Given the description of an element on the screen output the (x, y) to click on. 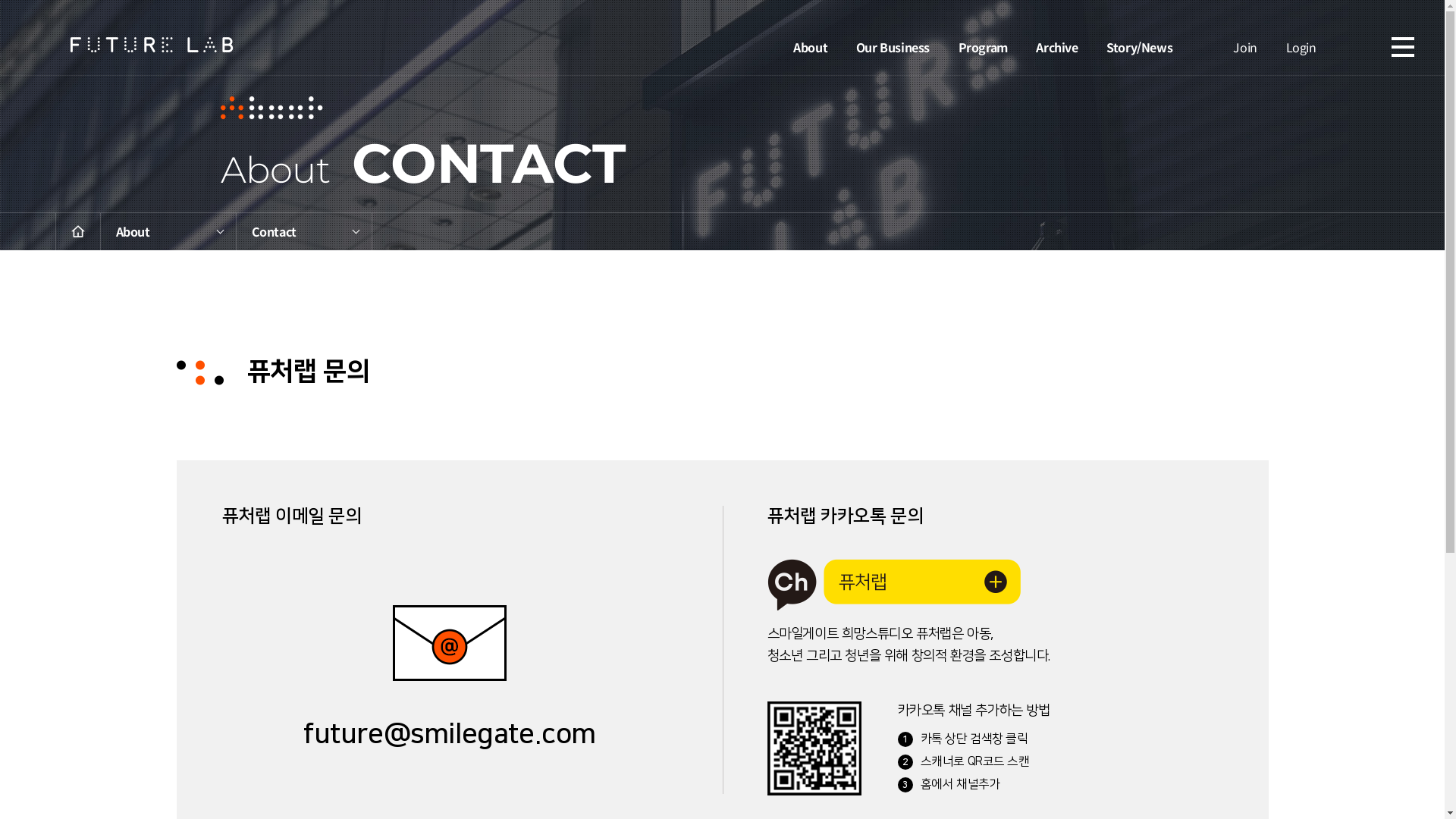
Our Business Element type: text (892, 45)
Login Element type: text (1300, 46)
About Element type: text (167, 231)
Contact Element type: text (303, 231)
future@smilegate.com Element type: text (449, 679)
About Element type: text (810, 45)
Program Element type: text (982, 45)
future lab Element type: text (151, 44)
Archive Element type: text (1056, 45)
Join Element type: text (1244, 46)
Story/News Element type: text (1139, 45)
